Given the description of an element on the screen output the (x, y) to click on. 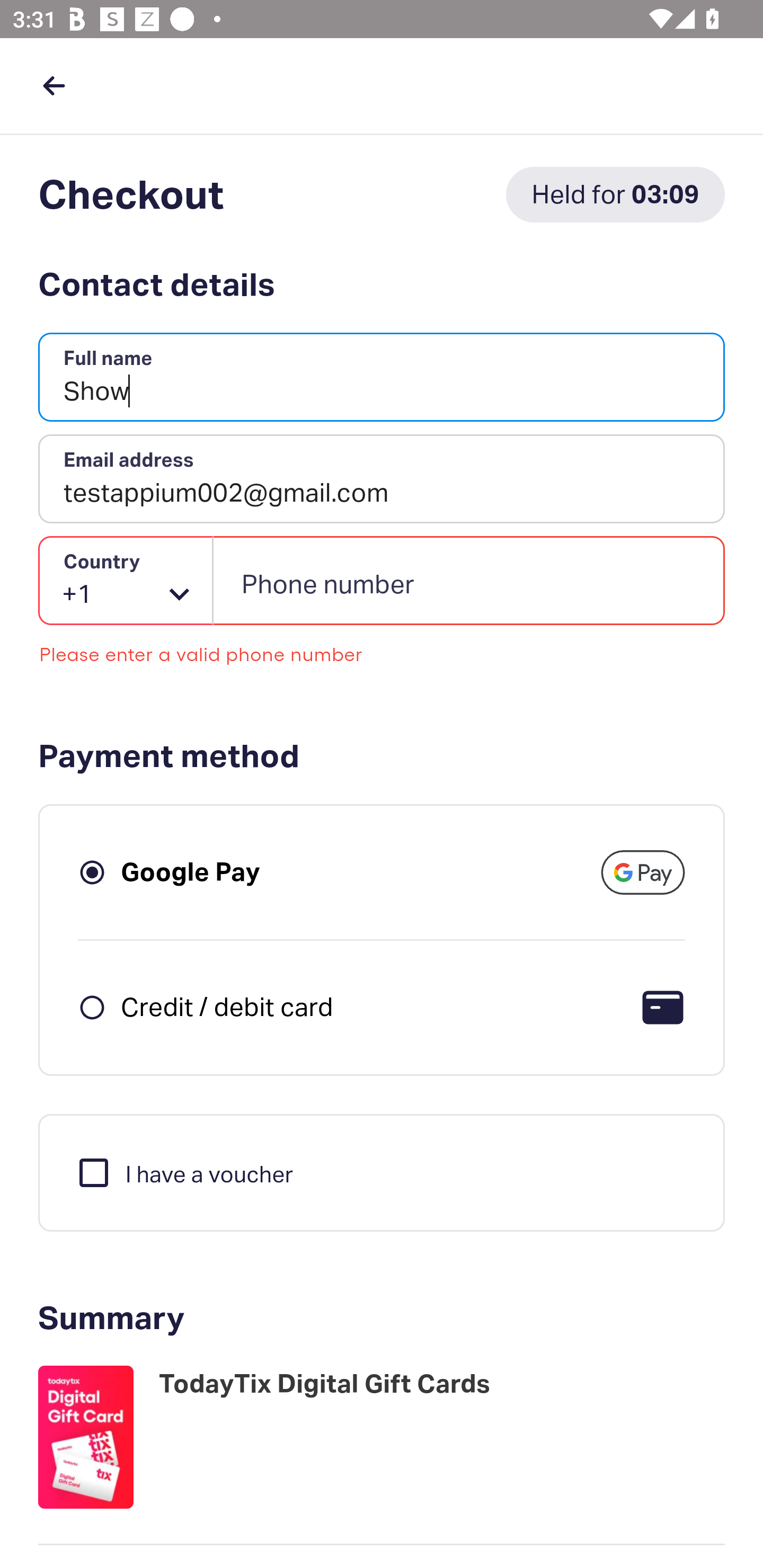
back button (53, 85)
Show (381, 377)
testappium002@gmail.com (381, 478)
  +1 (126, 580)
Google Pay (190, 871)
Credit / debit card (227, 1006)
I have a voucher (183, 1171)
